Given the description of an element on the screen output the (x, y) to click on. 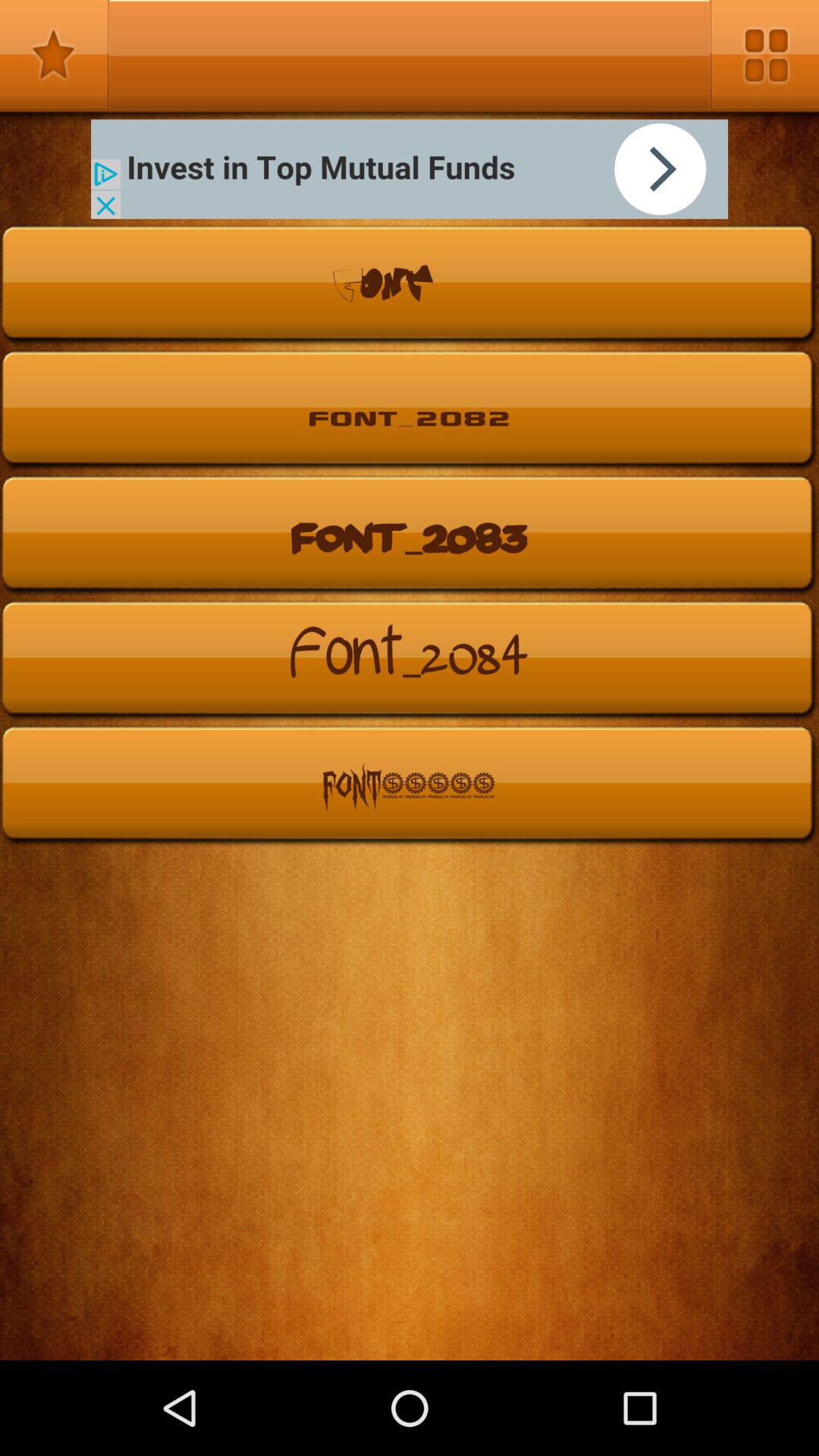
open advertisement (409, 168)
